Given the description of an element on the screen output the (x, y) to click on. 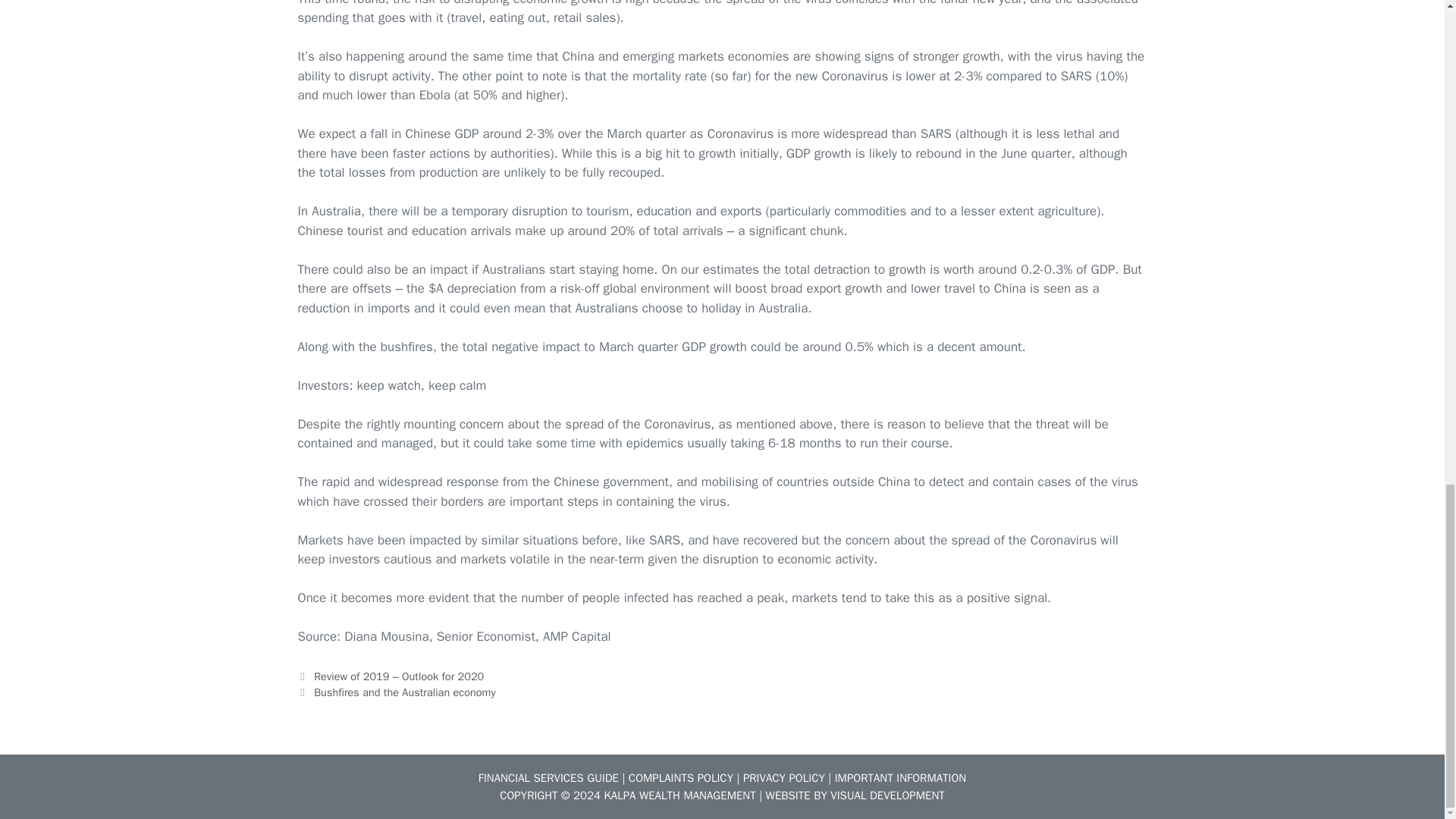
Scroll back to top (1406, 337)
